Given the description of an element on the screen output the (x, y) to click on. 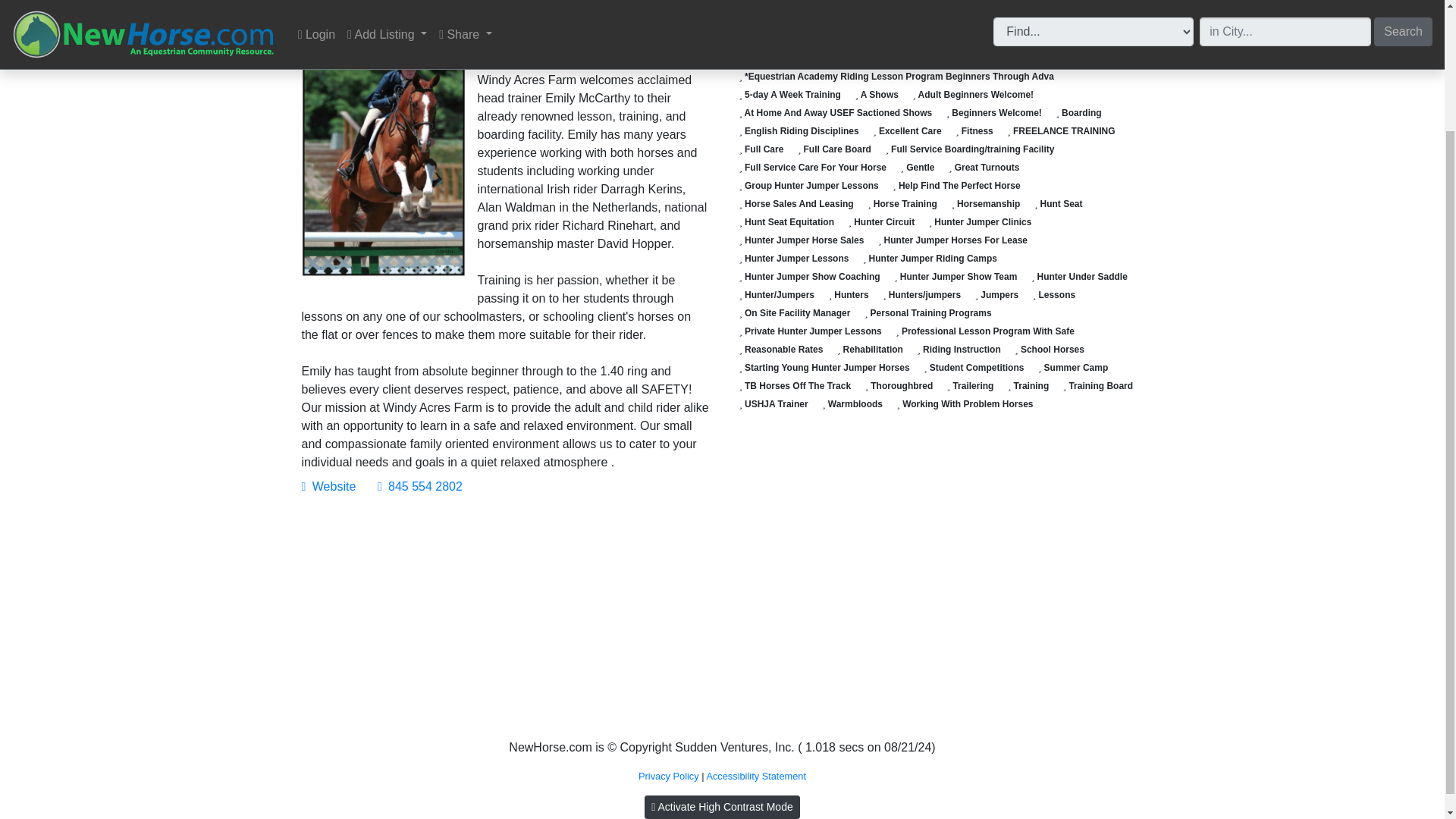
Contact (403, 14)
Advertisement (506, 620)
Privacy Policy (668, 776)
Photos (476, 14)
Website (328, 486)
845 554 2802 (420, 486)
About (333, 14)
Accessibility Statement (756, 776)
